Given the description of an element on the screen output the (x, y) to click on. 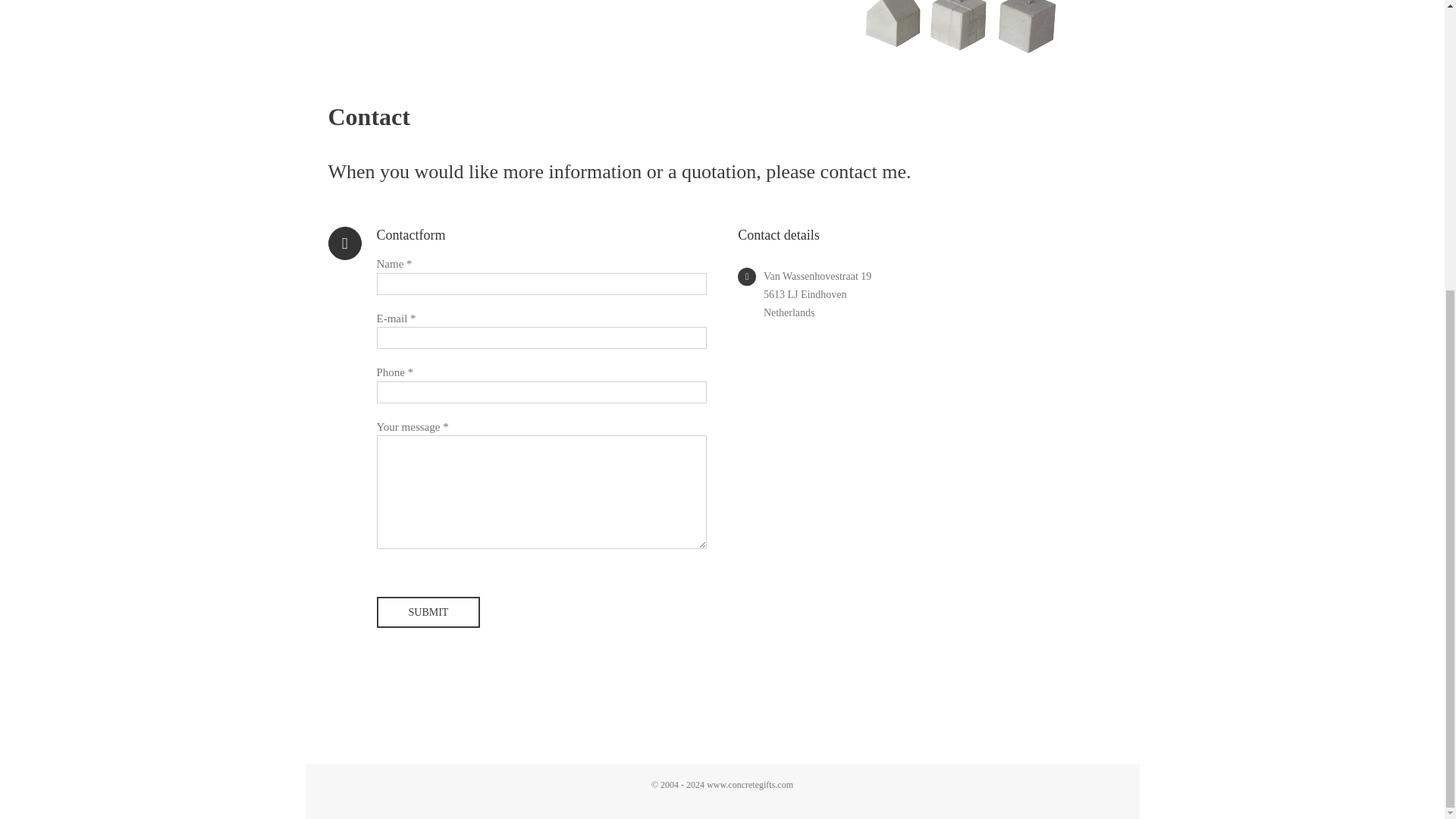
Made in Holland (978, 27)
Submit (427, 612)
Submit (427, 612)
www.concretegifts.com (749, 783)
